Given the description of an element on the screen output the (x, y) to click on. 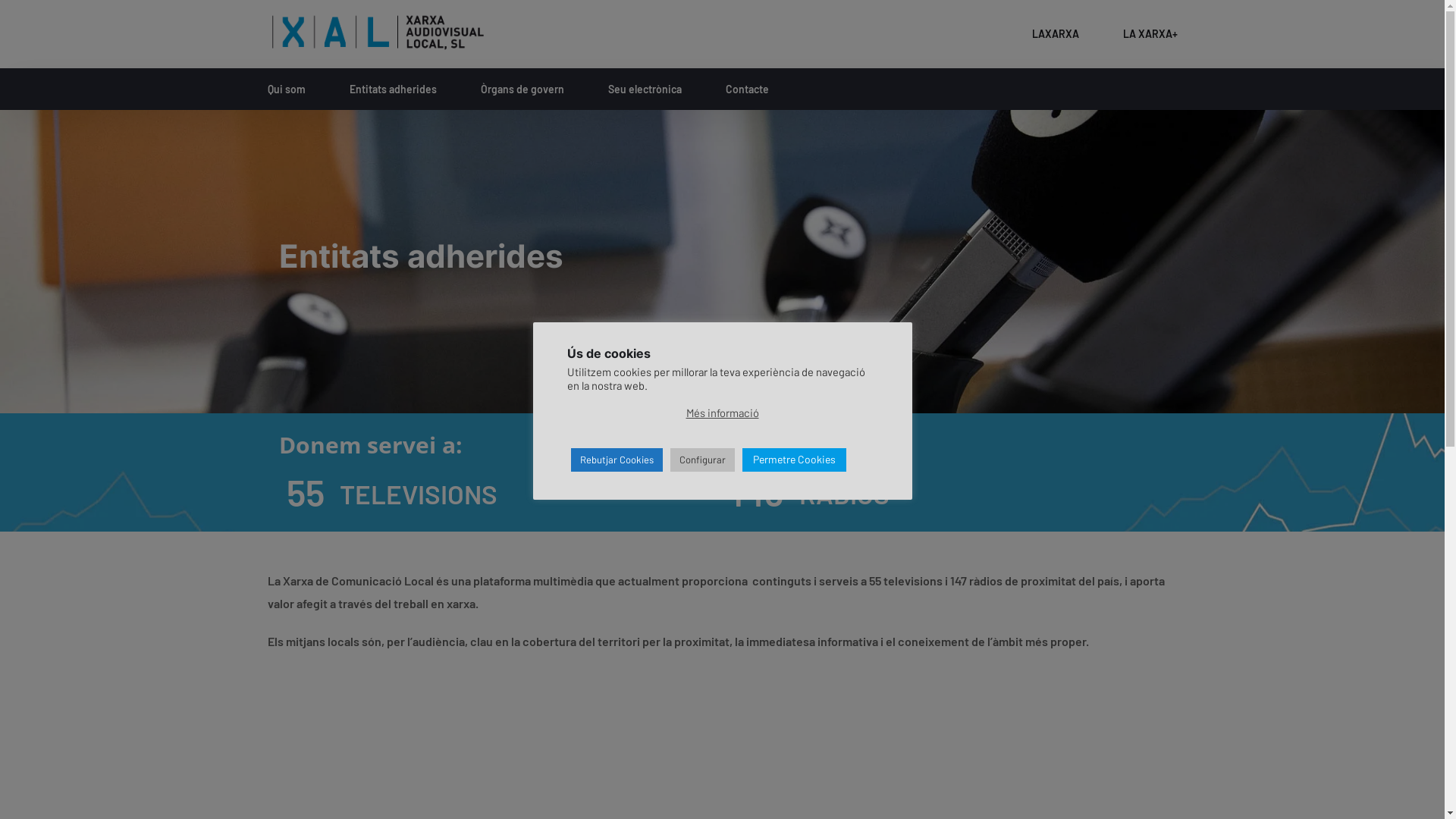
Qui som Element type: text (285, 88)
Entitats adherides Element type: text (392, 88)
LAXARXA Element type: text (1054, 33)
Rebutjar Cookies Element type: text (616, 459)
LA XARXA+ Element type: text (1149, 33)
Permetre Cookies Element type: text (793, 459)
Contacte Element type: text (746, 88)
Configurar Element type: text (702, 459)
